Given the description of an element on the screen output the (x, y) to click on. 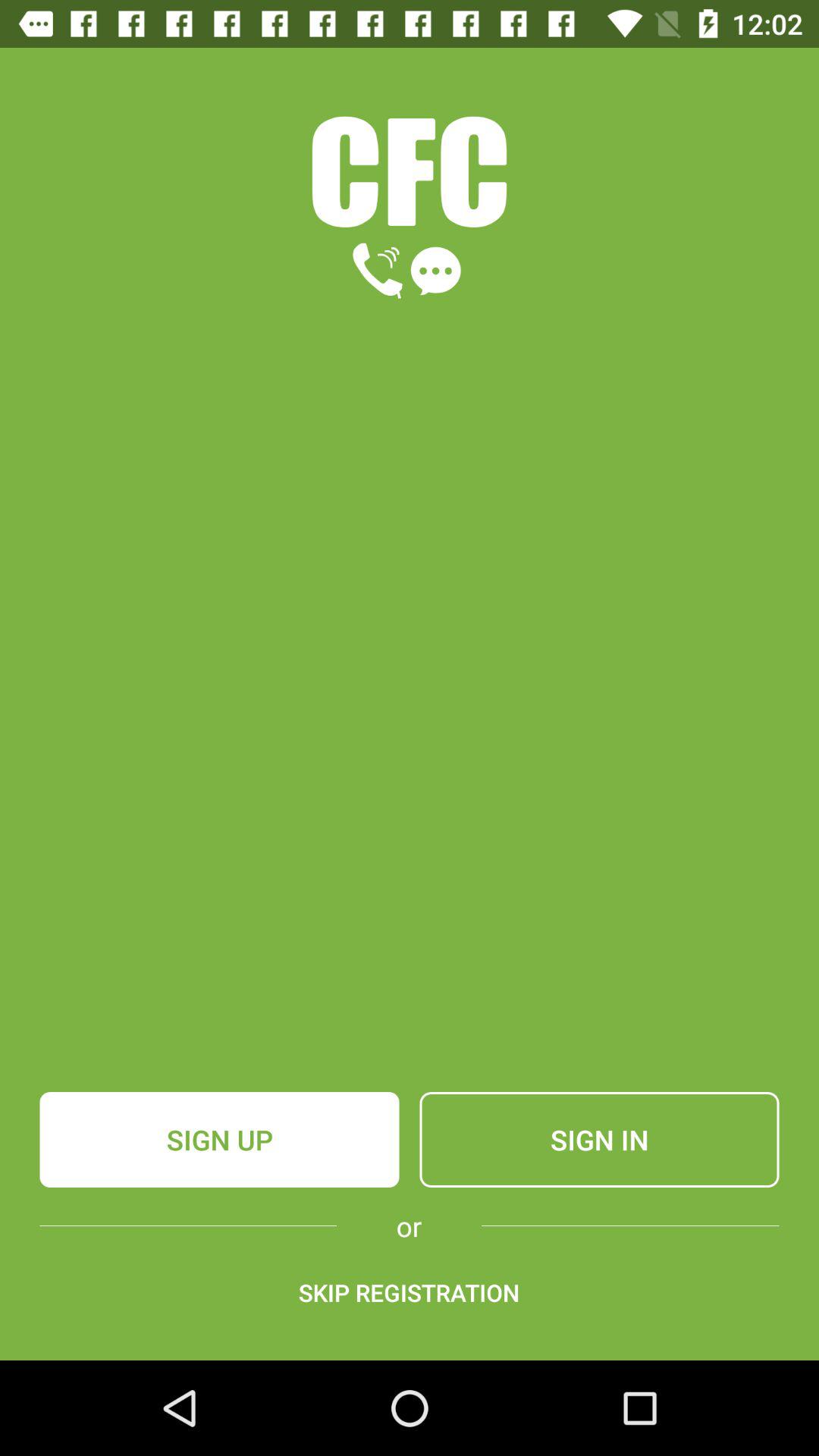
scroll to skip registration (408, 1292)
